Given the description of an element on the screen output the (x, y) to click on. 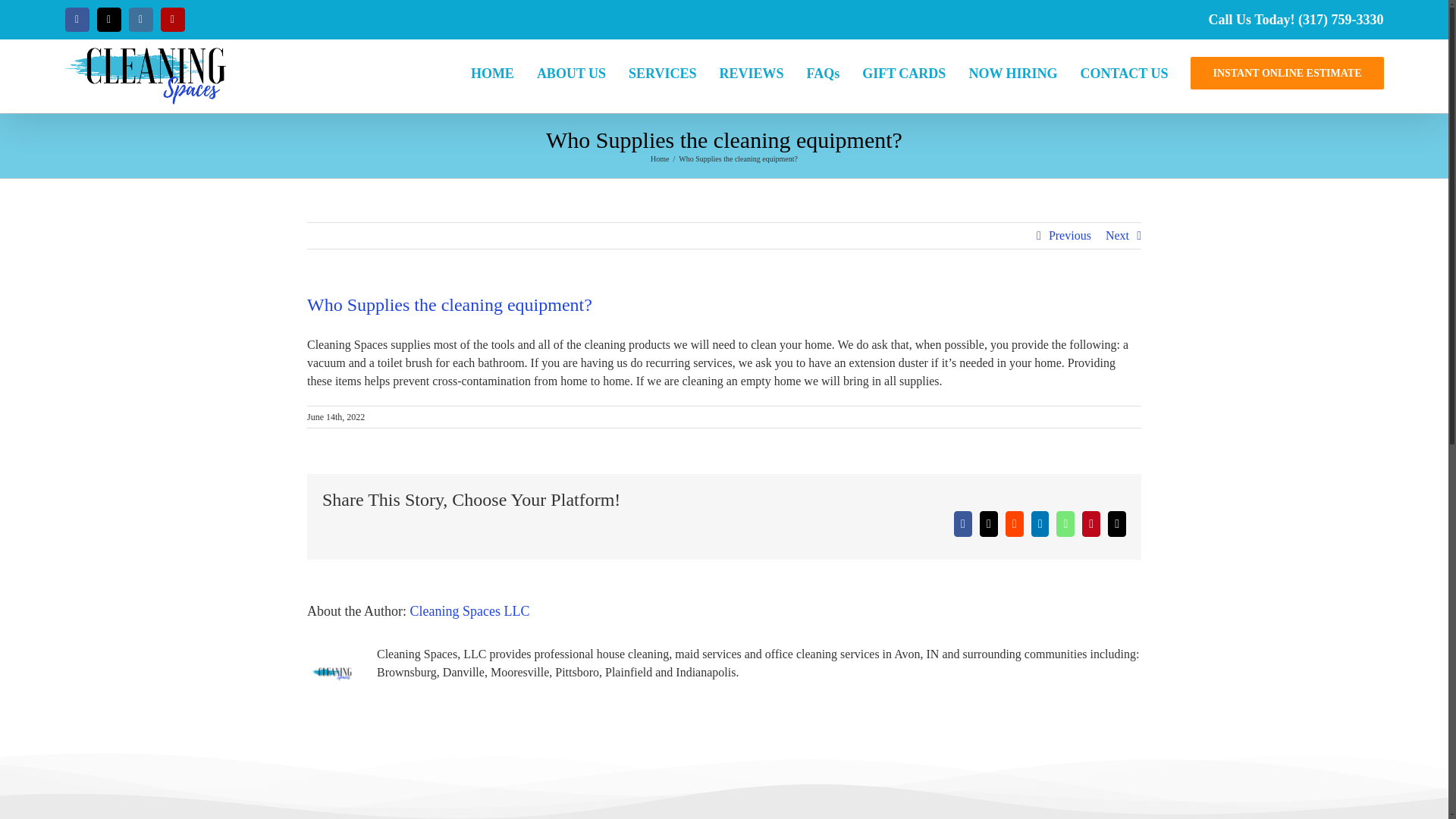
Twitter (108, 19)
Twitter (108, 19)
Home (659, 158)
Instagram (140, 19)
Posts by Cleaning Spaces LLC (469, 611)
CONTACT US (1124, 72)
Yelp (172, 19)
SERVICES (661, 72)
Yelp (172, 19)
REVIEWS (751, 72)
